Given the description of an element on the screen output the (x, y) to click on. 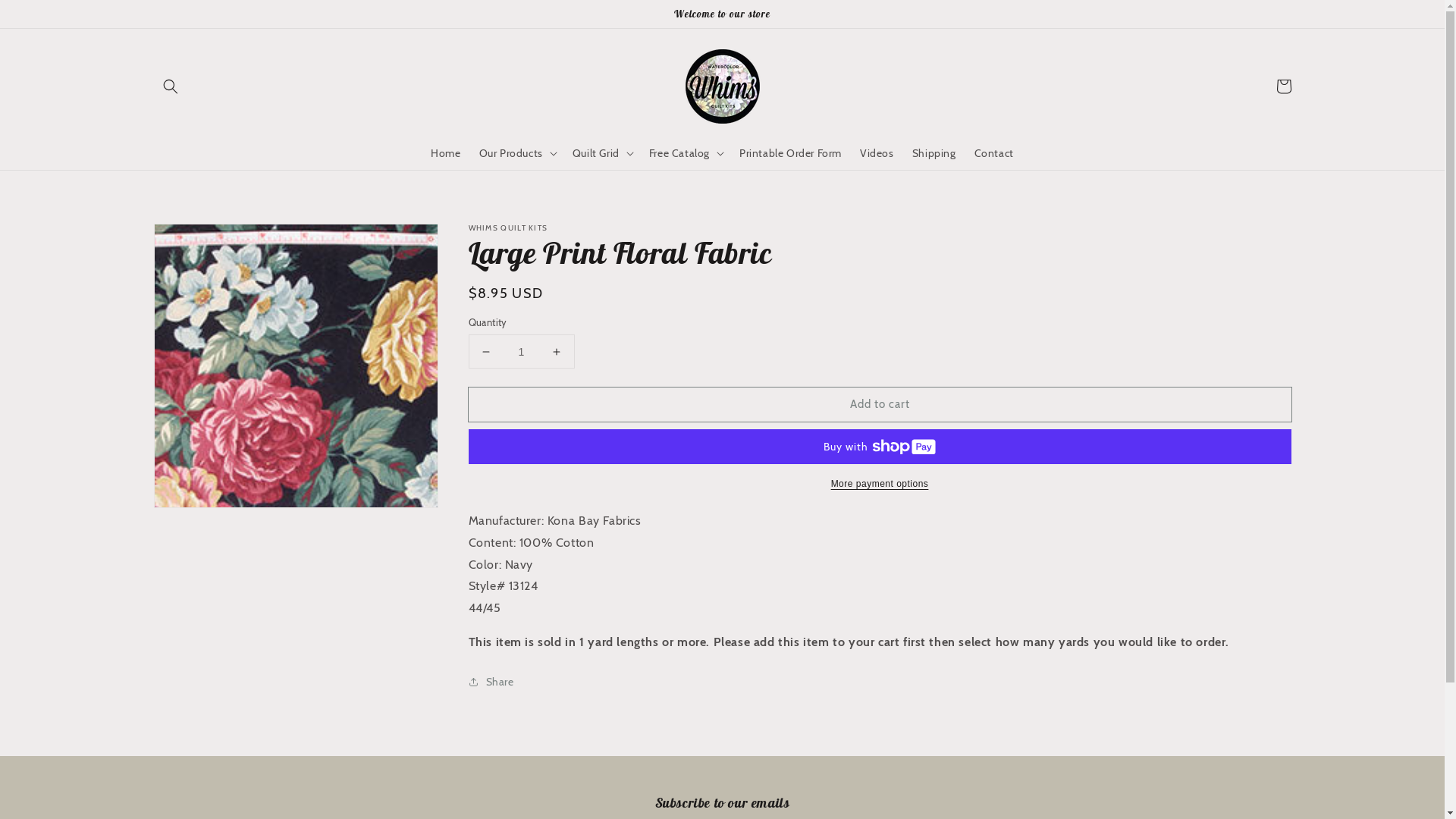
Shipping Element type: text (934, 153)
Videos Element type: text (876, 153)
Printable Order Form Element type: text (790, 153)
Add to cart Element type: text (879, 404)
Contact Element type: text (993, 153)
Cart Element type: text (1282, 86)
Skip to product information Element type: text (198, 239)
More payment options Element type: text (879, 483)
Increase quantity for Large Print Floral Fabric Element type: text (556, 351)
Home Element type: text (445, 153)
https://whims.cc/products/large-print-floral-fabric Element type: text (556, 731)
Decrease quantity for Large Print Floral Fabric Element type: text (485, 351)
